Given the description of an element on the screen output the (x, y) to click on. 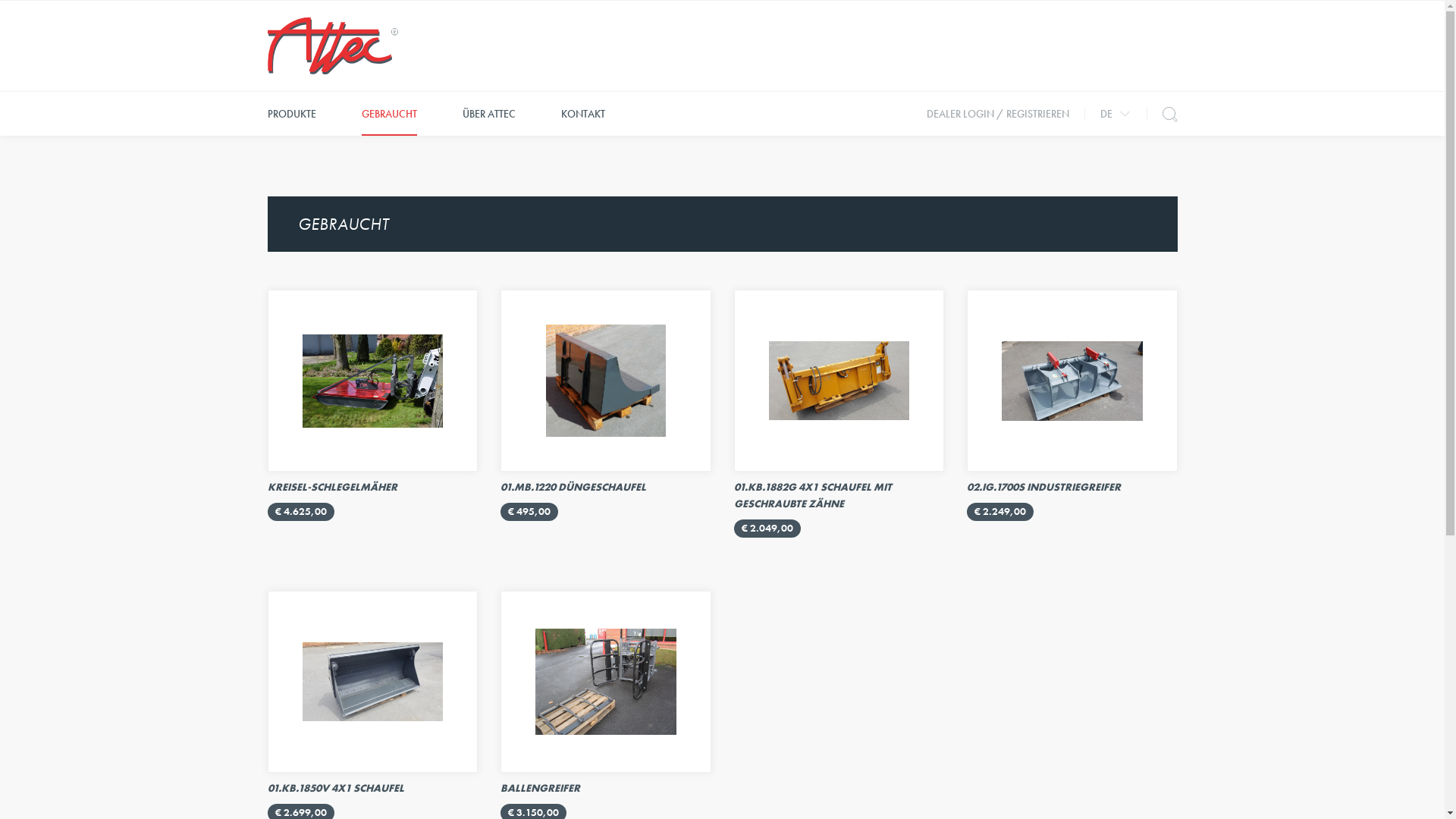
PRODUKTE Element type: text (290, 113)
DEALER LOGIN / REGISTRIEREN Element type: text (997, 113)
KONTAKT Element type: text (583, 113)
GEBRAUCHT Element type: text (388, 113)
